Given the description of an element on the screen output the (x, y) to click on. 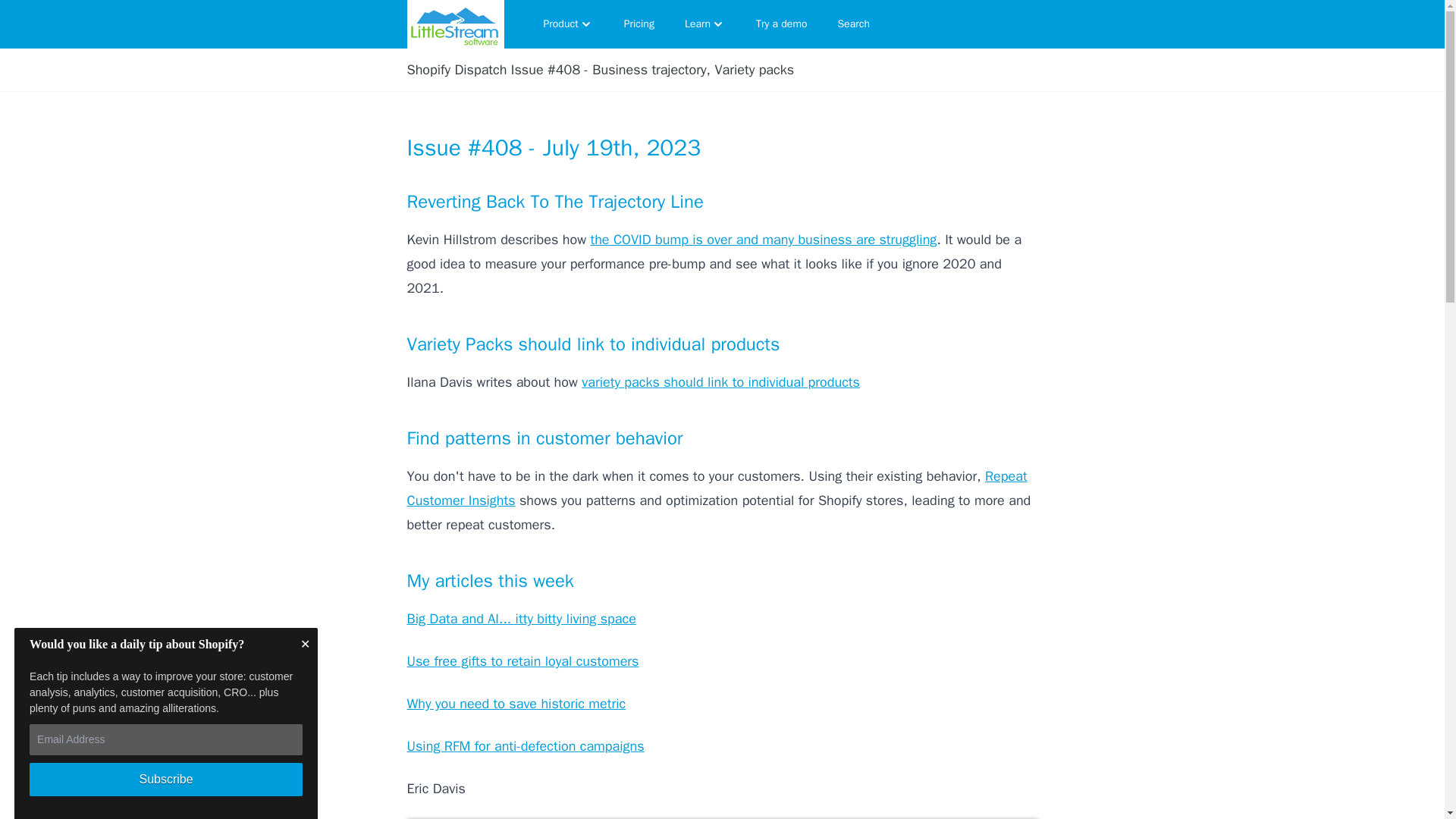
Learn (705, 23)
Using RFM for anti-defection campaigns (524, 745)
the COVID bump is over and many business are struggling (762, 239)
variety packs should link to individual products (720, 381)
Search (853, 23)
Product (568, 23)
Pricing (638, 23)
Home (454, 24)
Big Data and AI... itty bitty living space (520, 618)
Subscribe (165, 779)
Why you need to save historic metric (516, 703)
Repeat Customer Insights (716, 487)
Use free gifts to retain loyal customers (522, 660)
Try a demo (780, 23)
